Given the description of an element on the screen output the (x, y) to click on. 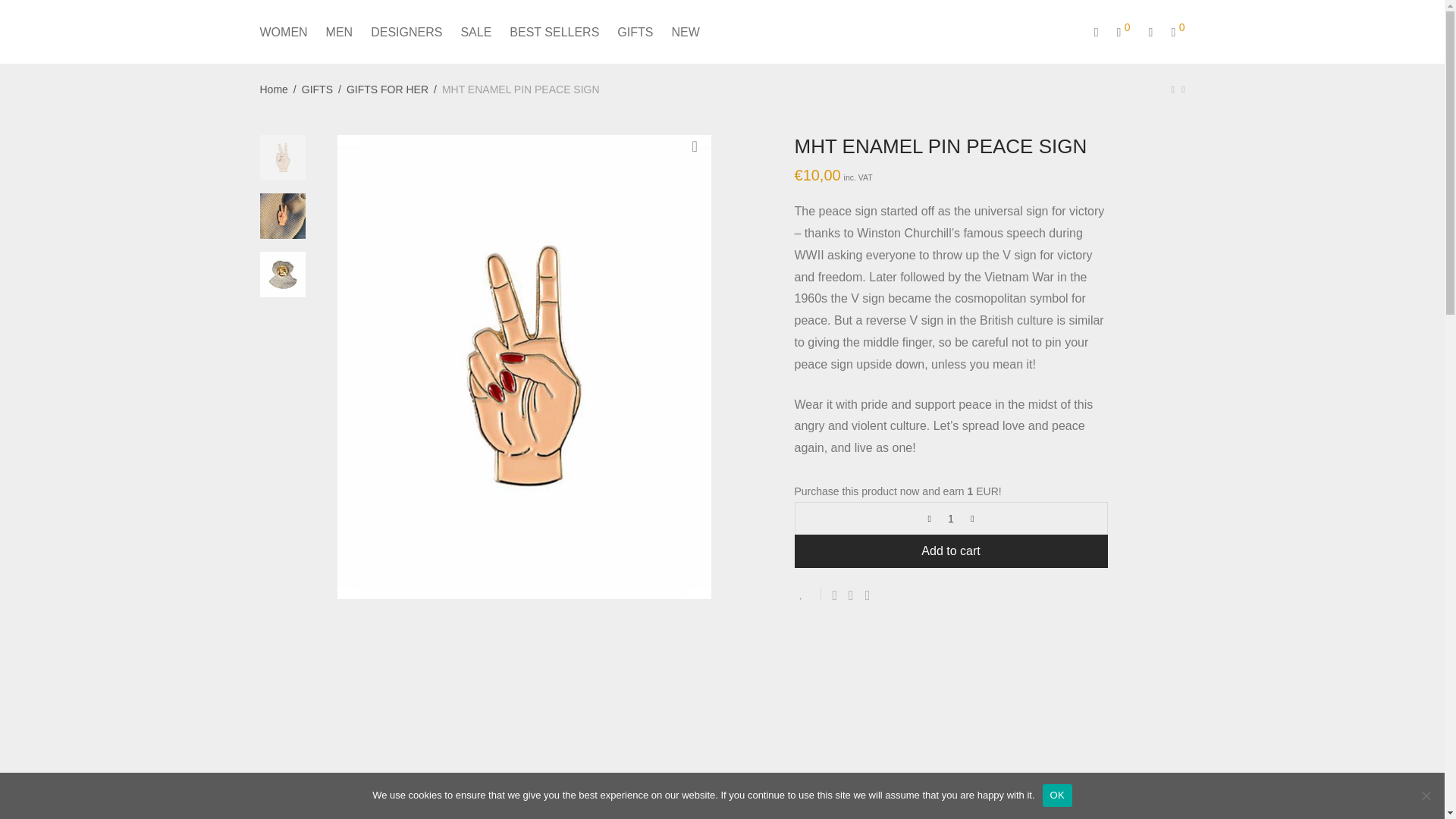
WOMEN (282, 32)
No (1425, 795)
Add to Wishlist (807, 594)
